Given the description of an element on the screen output the (x, y) to click on. 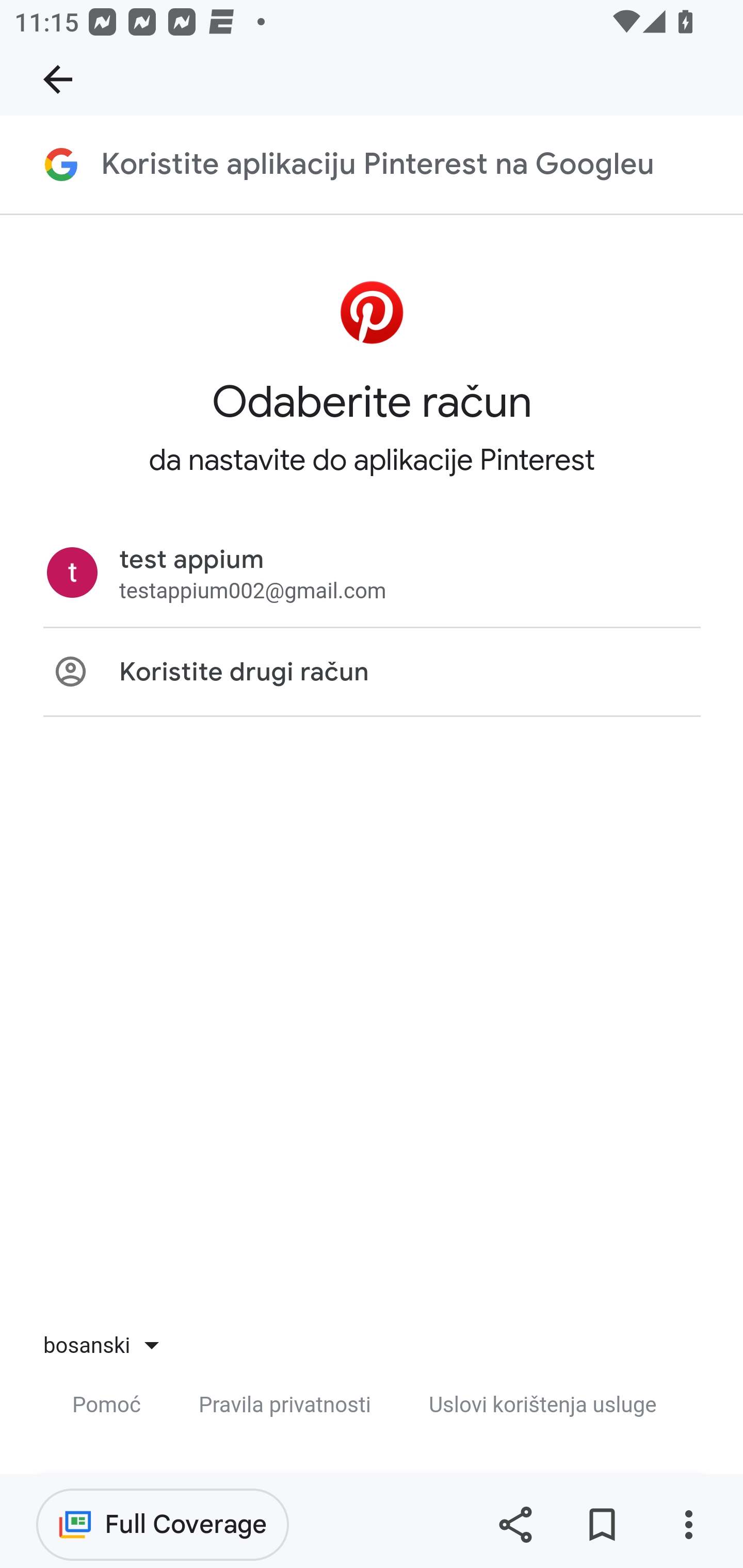
Navigate up (57, 79)
Koristite drugi račun (371, 673)
‪bosanski‬ (94, 1345)
Pomoć (107, 1405)
Pravila privatnosti (284, 1405)
Uslovi korištenja usluge (542, 1405)
Share (514, 1524)
Save for later (601, 1524)
More options (688, 1524)
Full Coverage (162, 1524)
